Given the description of an element on the screen output the (x, y) to click on. 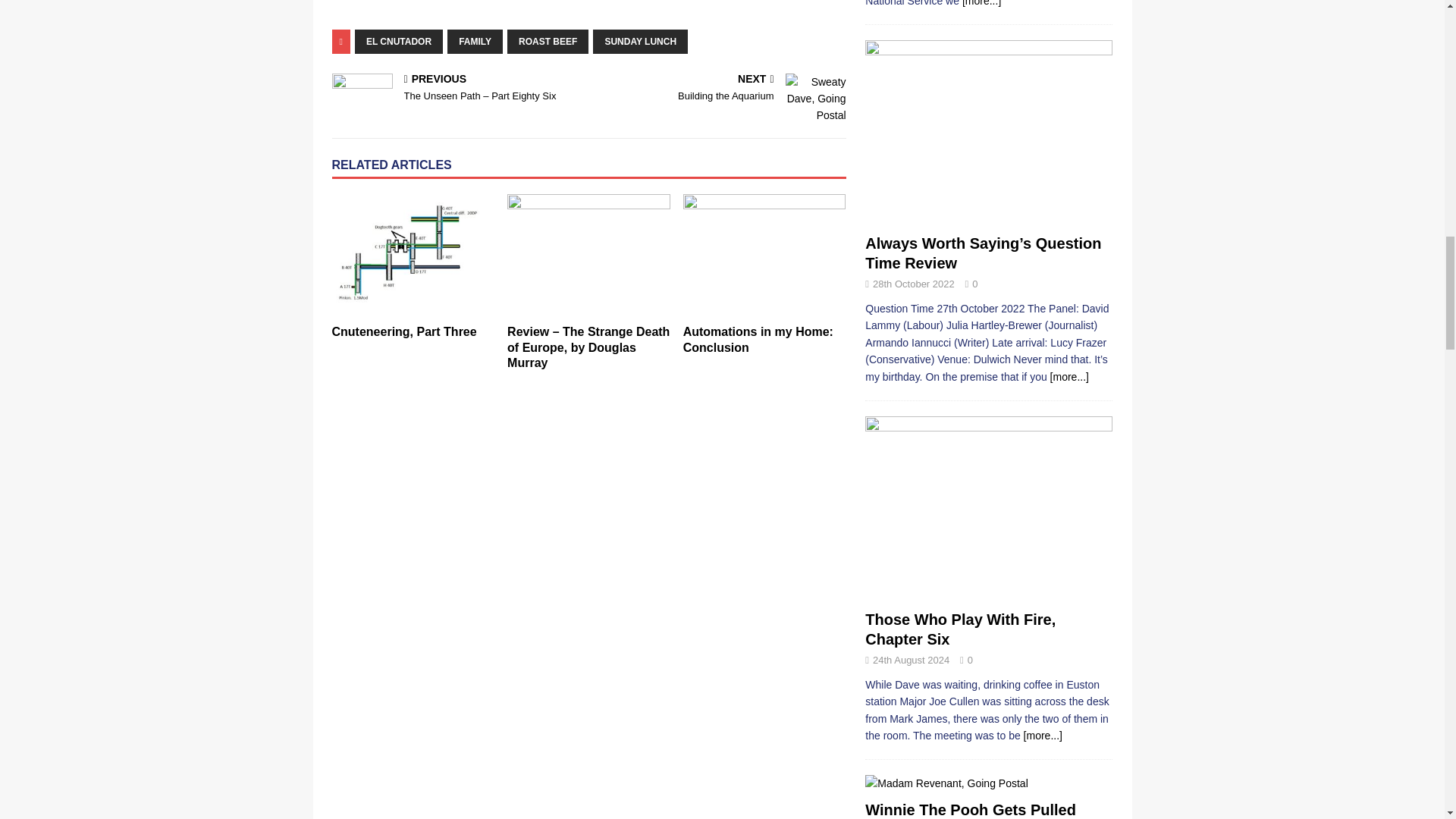
Automations in my Home: Conclusion (763, 255)
Automations in my Home: Conclusion (757, 339)
Cnuteneering, Part Three (413, 255)
Cnuteneering, Part Three (404, 331)
